Given the description of an element on the screen output the (x, y) to click on. 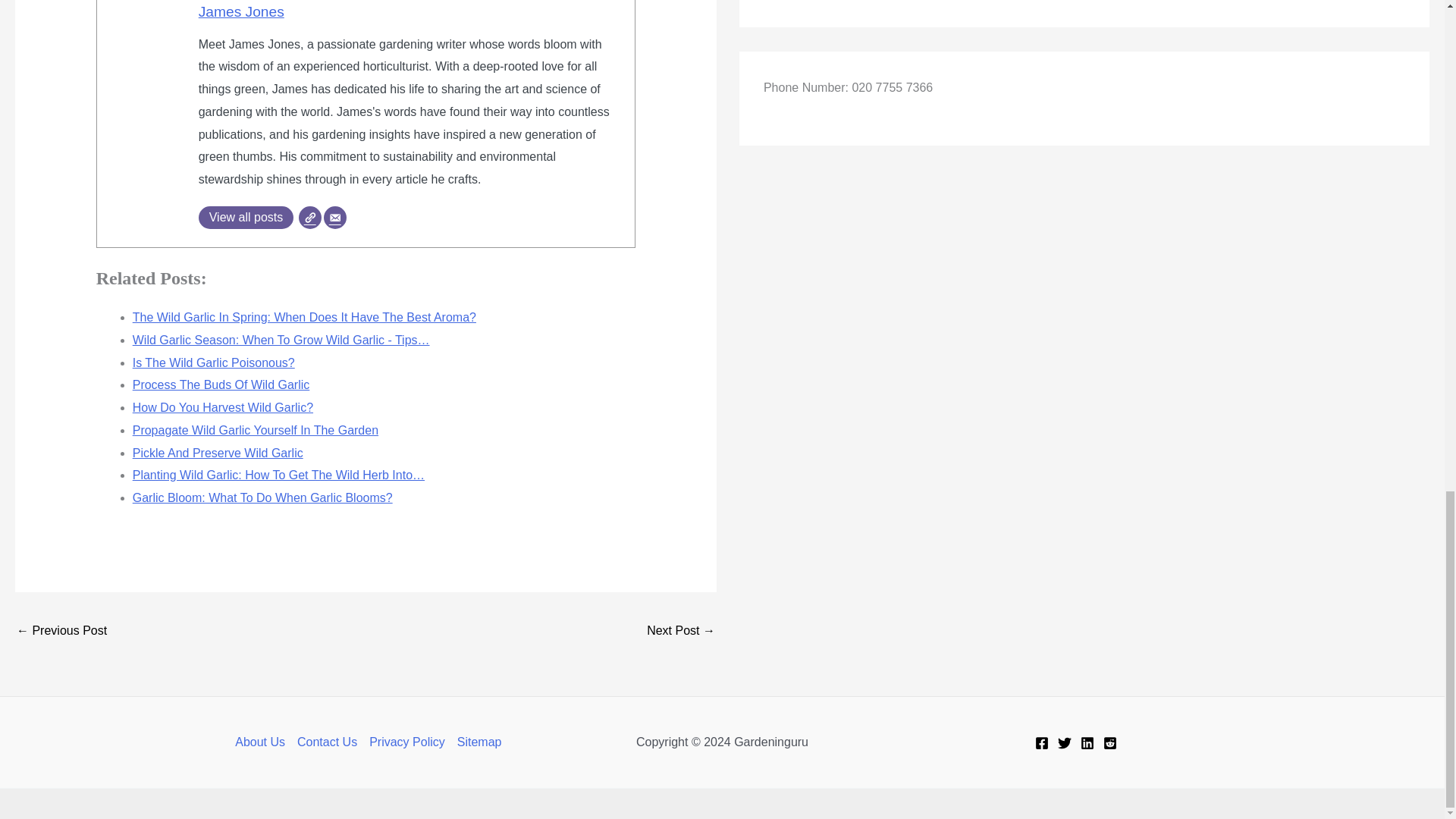
View all posts (246, 217)
James Jones (240, 11)
Pickle And Preserve Wild Garlic (61, 632)
Is The Wild Garlic Poisonous? (680, 632)
